Given the description of an element on the screen output the (x, y) to click on. 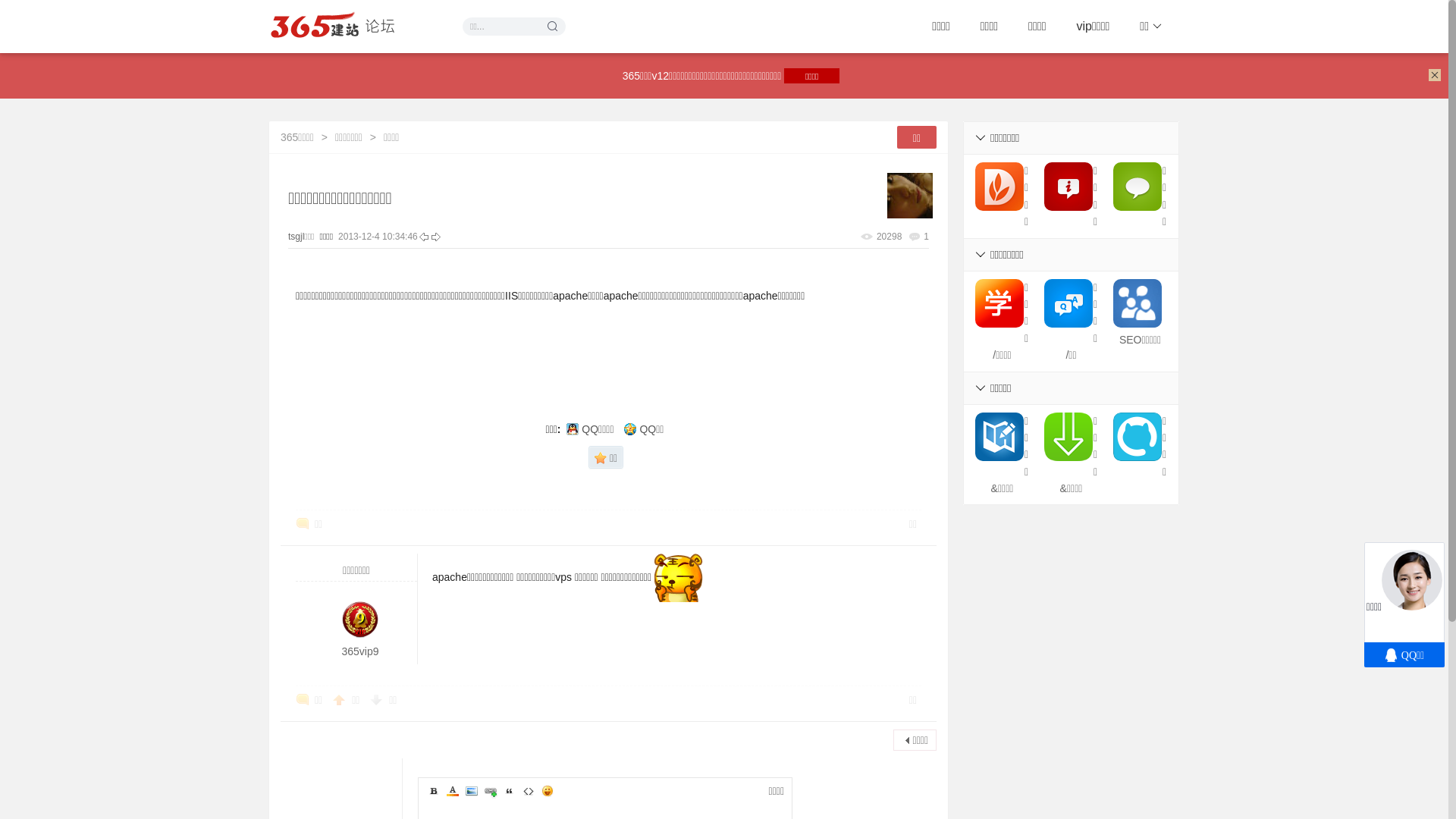
Link Element type: text (490, 790)
Quote Element type: text (509, 790)
Code Element type: text (528, 790)
365vip9 Element type: text (359, 651)
Smilies Element type: text (547, 790)
Image Element type: text (471, 790)
tsgjl Element type: text (296, 236)
Color Element type: text (452, 790)
B Element type: text (433, 790)
tsgjl Element type: hover (909, 194)
